Given the description of an element on the screen output the (x, y) to click on. 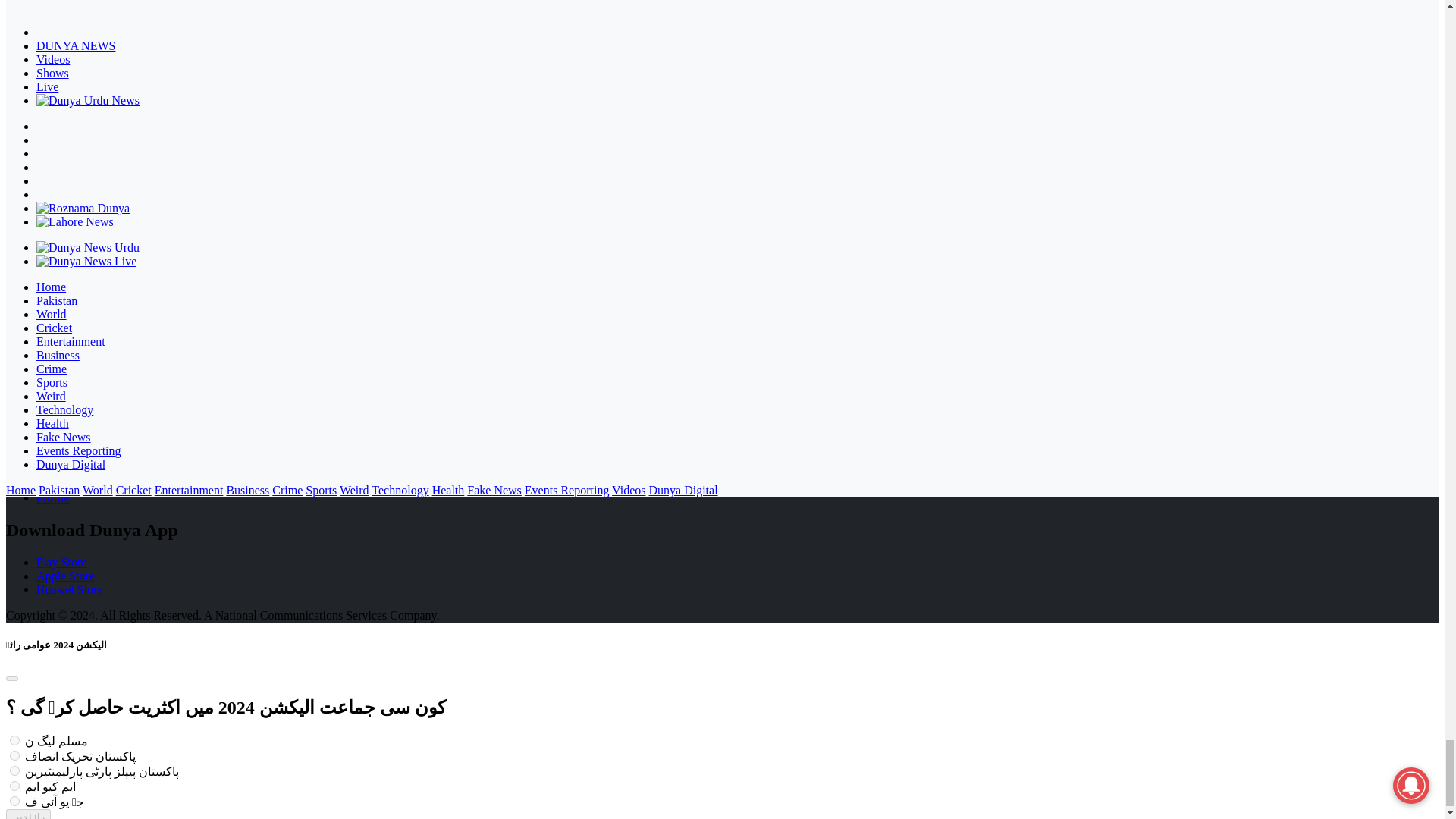
PPPP (15, 770)
PTI (15, 755)
JUI-F (15, 800)
PML-N (15, 740)
MQMP (15, 786)
